Given the description of an element on the screen output the (x, y) to click on. 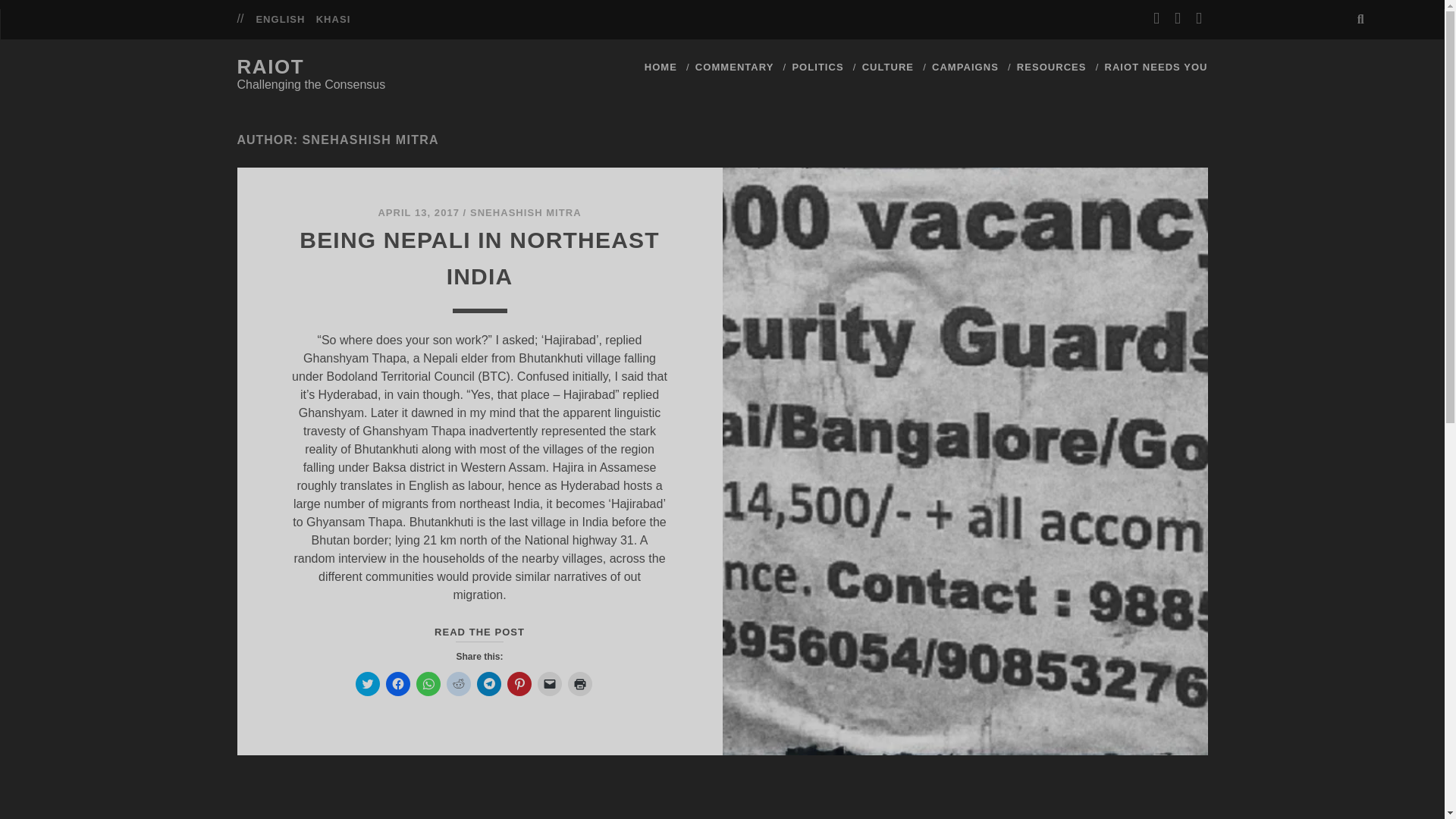
HOME (661, 67)
COMMENTARY (734, 67)
ENGLISH (280, 19)
Click to share on Facebook (397, 683)
RESOURCES (1051, 67)
Click to print (579, 683)
POLITICS (817, 67)
BEING NEPALI IN NORTHEAST INDIA (479, 258)
KHASI (332, 19)
Click to share on Twitter (366, 683)
CULTURE (887, 67)
Click to share on Telegram (488, 683)
Click to email a link to a friend (548, 683)
RAIOT NEEDS YOU (1155, 67)
Posts by Snehashish Mitra (525, 212)
